Given the description of an element on the screen output the (x, y) to click on. 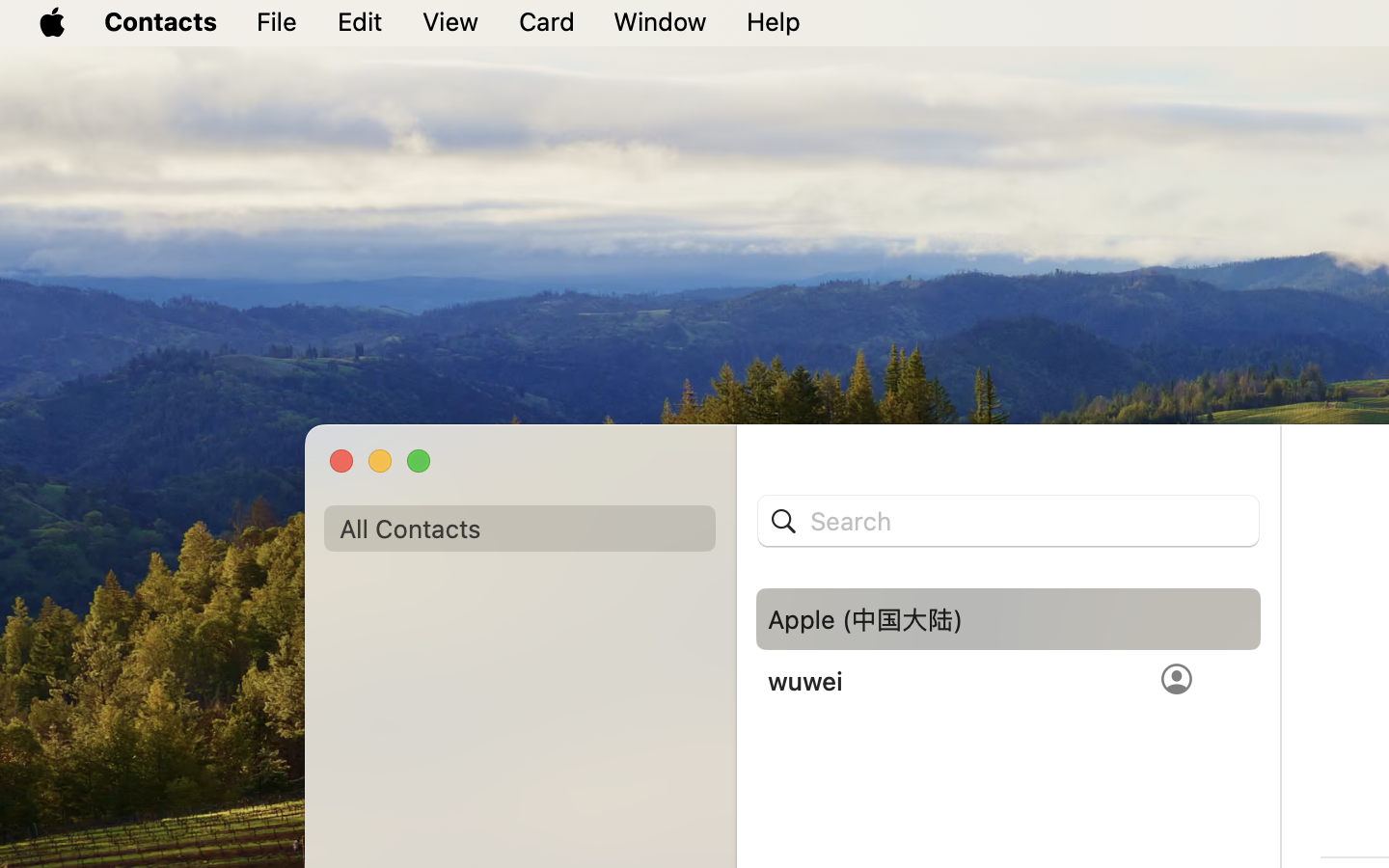
All Contacts Element type: AXStaticText (519, 528)
Apple (中国大陆) Element type: AXStaticText (864, 618)
wuwei Element type: AXStaticText (804, 680)
